Given the description of an element on the screen output the (x, y) to click on. 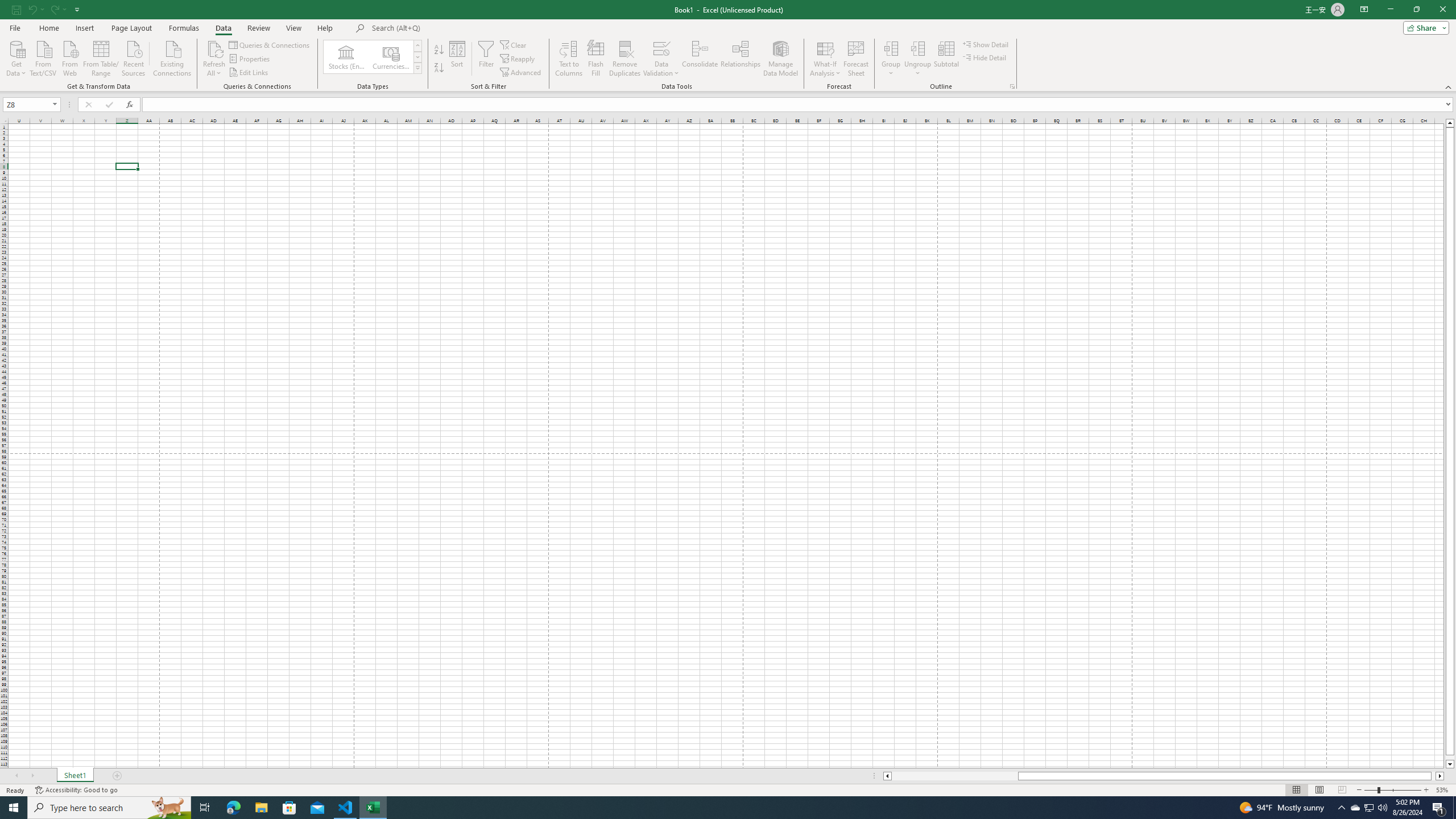
Restore Down (1416, 9)
Normal (1296, 790)
Manage Data Model (780, 58)
Refresh All (214, 48)
Ungroup... (917, 48)
Save (16, 9)
Queries & Connections (270, 44)
Currencies (English) (390, 56)
Filter (485, 58)
Data (223, 28)
From Text/CSV (43, 57)
Formula Bar (798, 104)
